Given the description of an element on the screen output the (x, y) to click on. 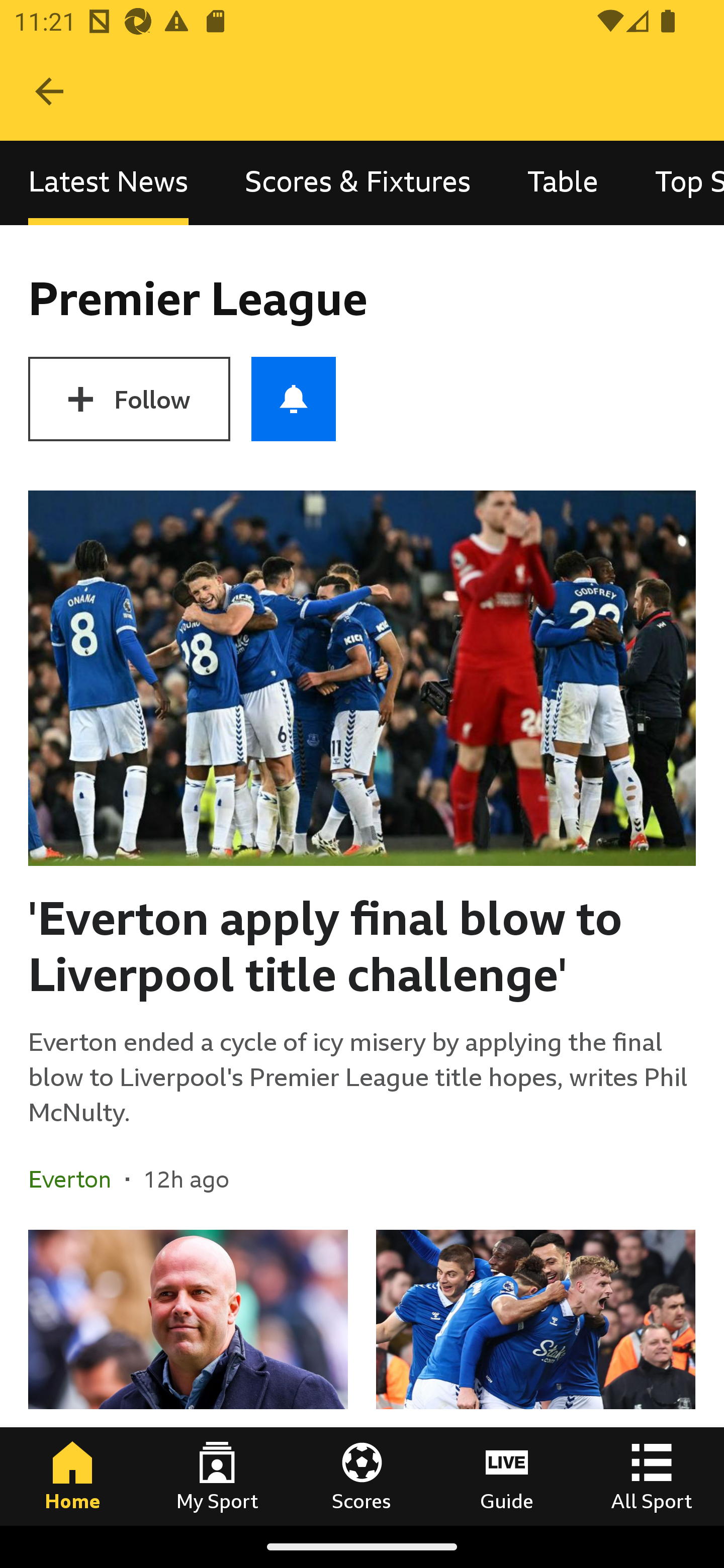
Navigate up (49, 91)
Latest News, selected Latest News (108, 183)
Scores & Fixtures (357, 183)
Table (562, 183)
Follow Premier League Follow (129, 398)
Push notifications for Premier League (293, 398)
Everton In the section Everton (76, 1178)
Slot philosophy could suit Liverpool - Van Dijk (188, 1377)
My Sport (216, 1475)
Scores (361, 1475)
Guide (506, 1475)
All Sport (651, 1475)
